Given the description of an element on the screen output the (x, y) to click on. 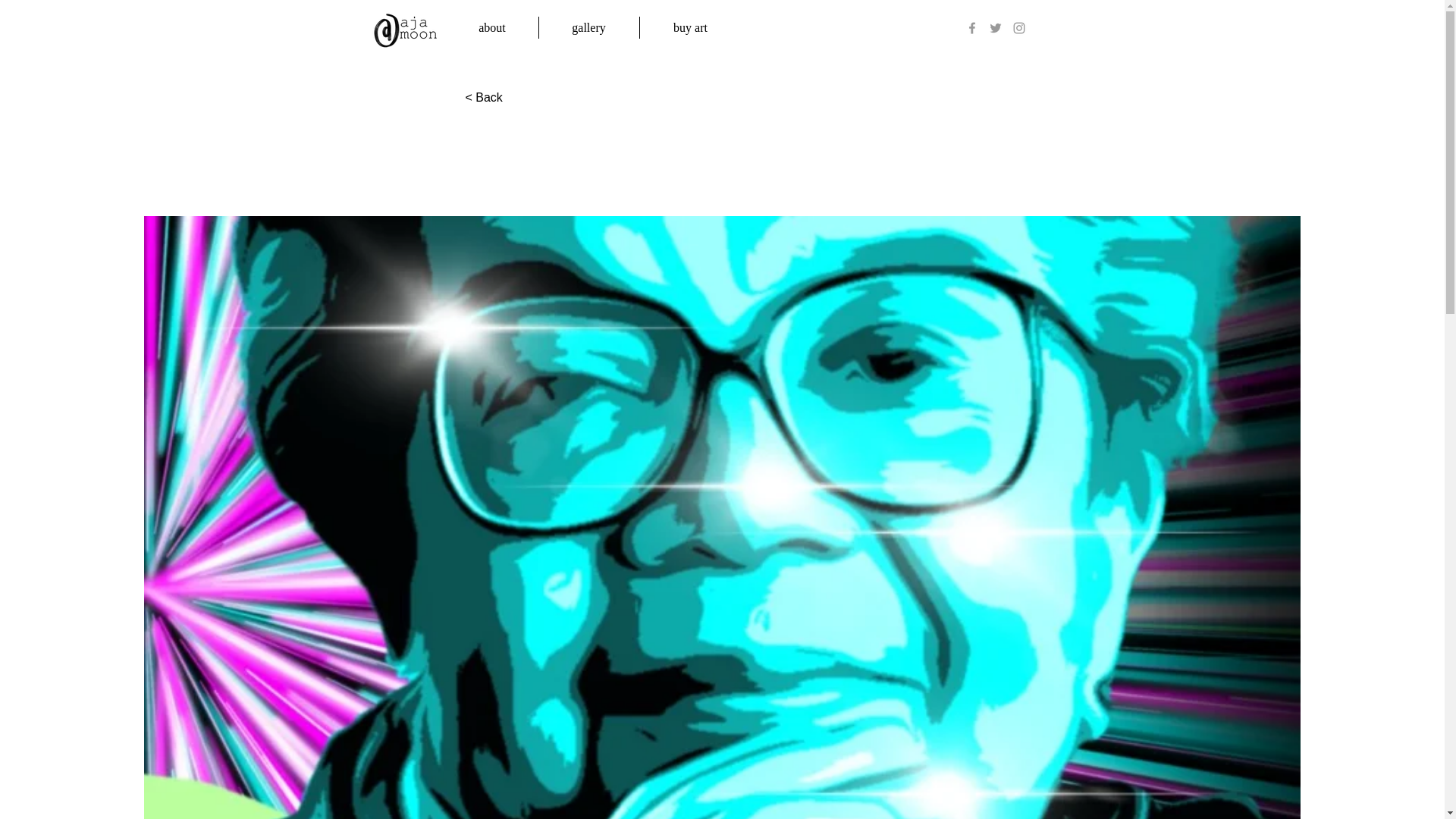
gallery (588, 27)
about (491, 27)
